Given the description of an element on the screen output the (x, y) to click on. 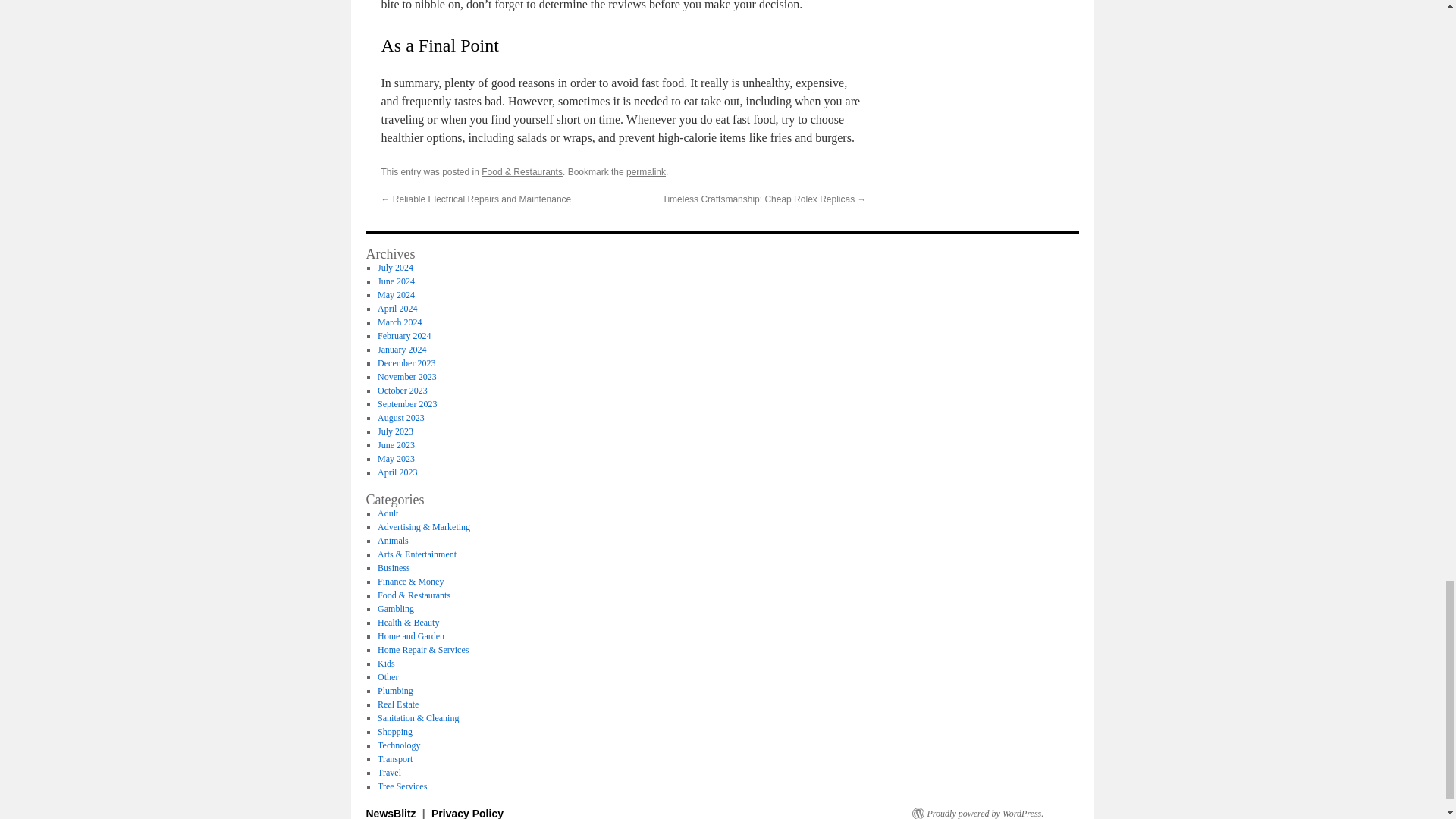
June 2023 (395, 444)
July 2023 (395, 430)
September 2023 (406, 403)
March 2024 (399, 321)
February 2024 (403, 335)
August 2023 (401, 417)
April 2024 (396, 308)
Adult (387, 512)
May 2024 (395, 294)
June 2024 (395, 281)
Permalink to Delicious Convenience: Fast Food Near Me (645, 172)
July 2024 (395, 267)
May 2023 (395, 458)
November 2023 (406, 376)
January 2024 (401, 348)
